Given the description of an element on the screen output the (x, y) to click on. 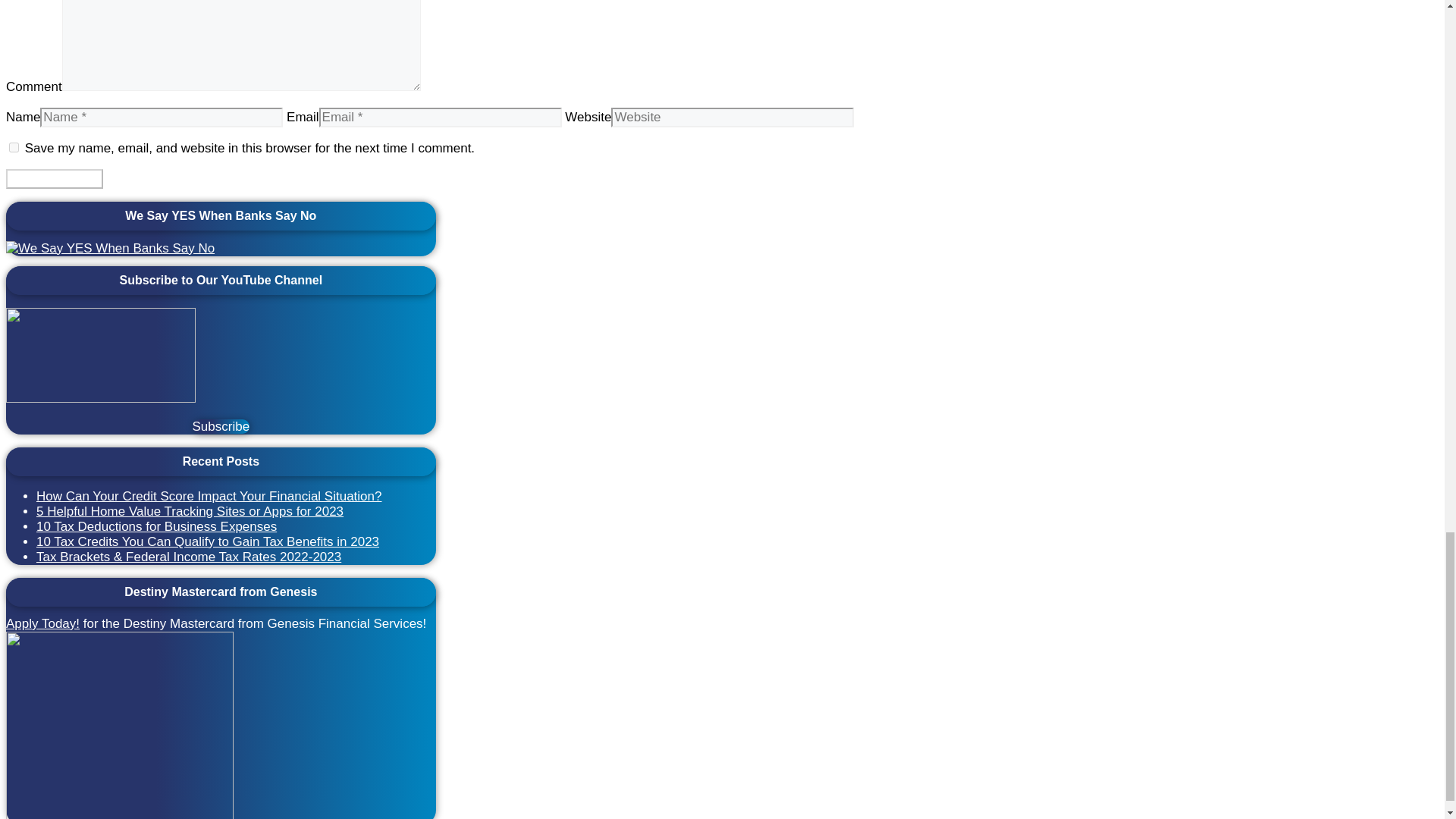
Post Comment (54, 178)
10 Tax Deductions for Business Expenses (156, 526)
5 Helpful Home Value Tracking Sites or Apps for 2023 (189, 511)
yes (13, 147)
Apply Today! (42, 623)
Subscribe (221, 426)
10 Tax Credits You Can Qualify to Gain Tax Benefits in 2023 (207, 541)
Post Comment (54, 178)
How Can Your Credit Score Impact Your Financial Situation? (208, 495)
